Given the description of an element on the screen output the (x, y) to click on. 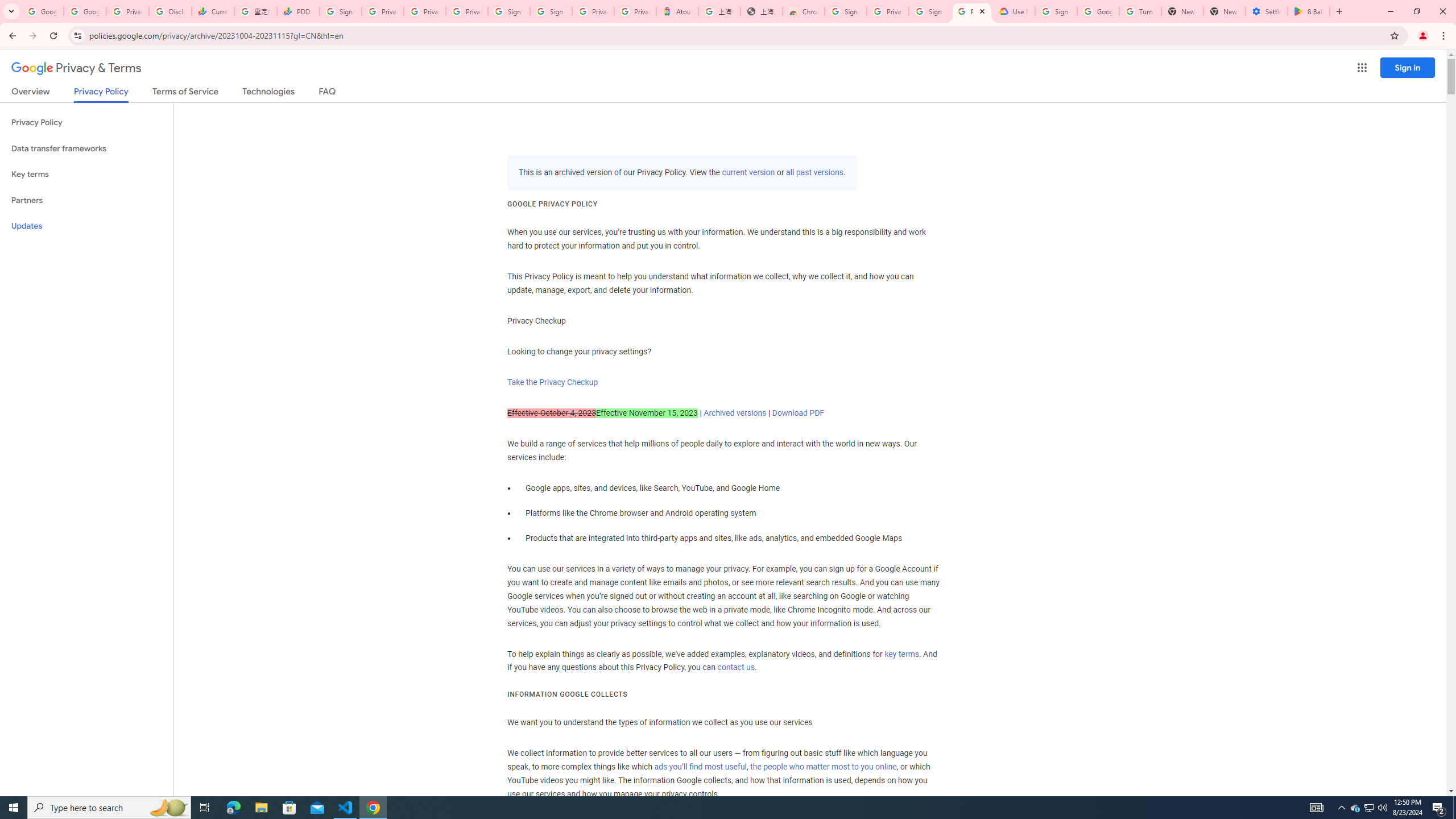
all past versions (813, 172)
Privacy Checkup (467, 11)
key terms (900, 653)
